Given the description of an element on the screen output the (x, y) to click on. 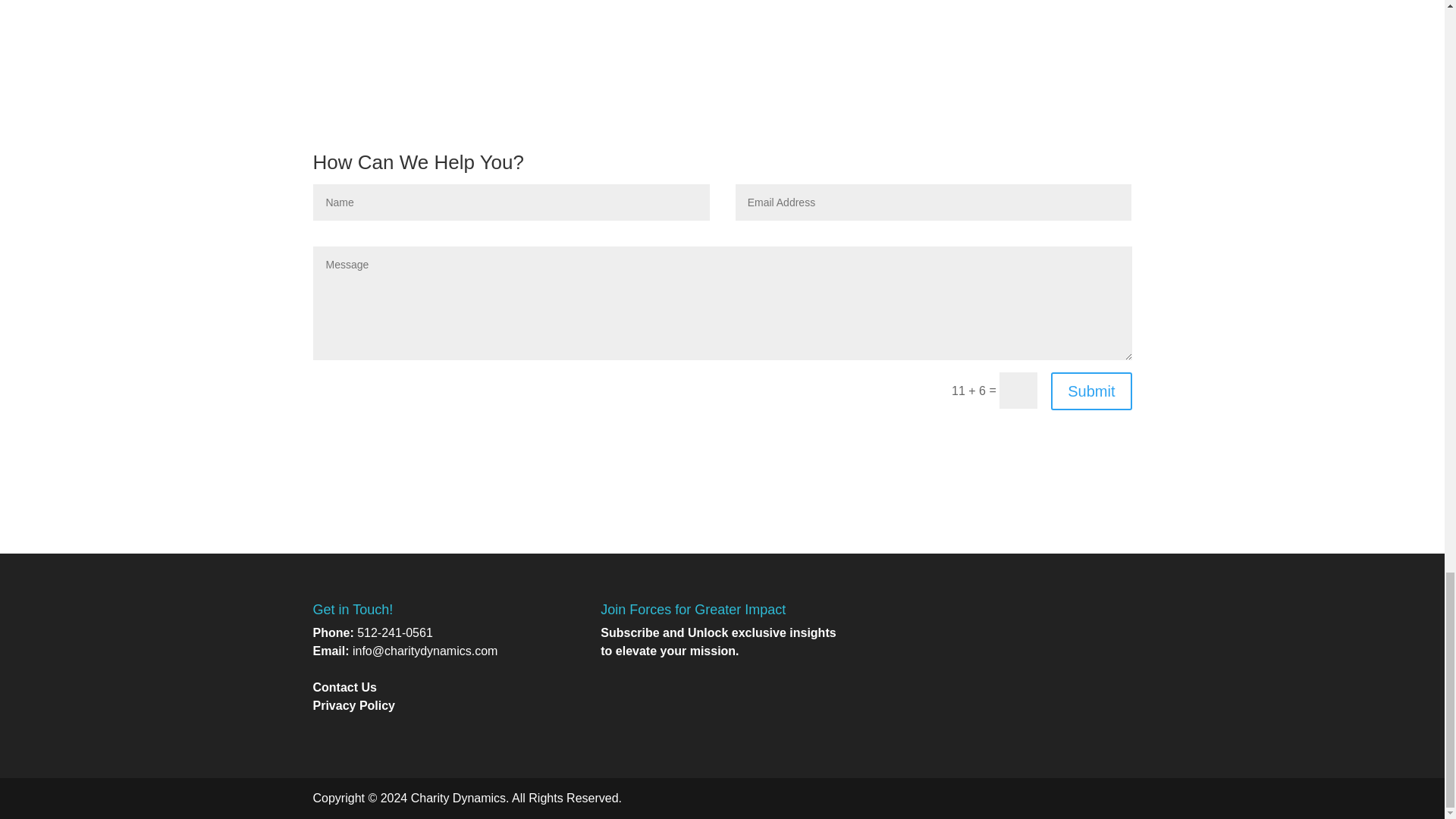
Privacy Policy (353, 705)
Contact Us (344, 686)
Submit (1091, 391)
